Given the description of an element on the screen output the (x, y) to click on. 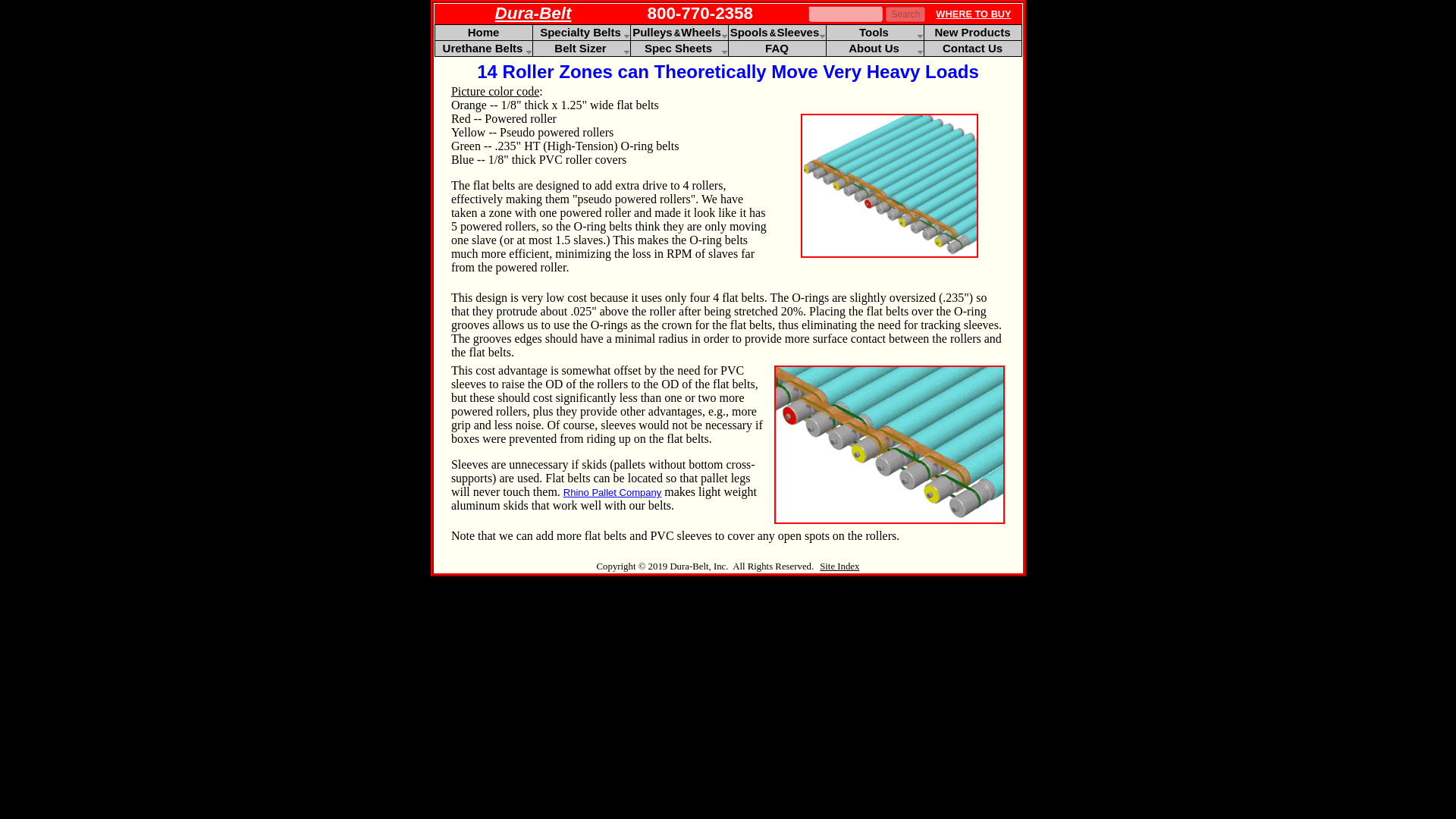
WHERE TO BUY (973, 12)
New Products (971, 32)
Dura-Belt (533, 13)
Search (904, 13)
Search (904, 13)
Home (483, 32)
